Given the description of an element on the screen output the (x, y) to click on. 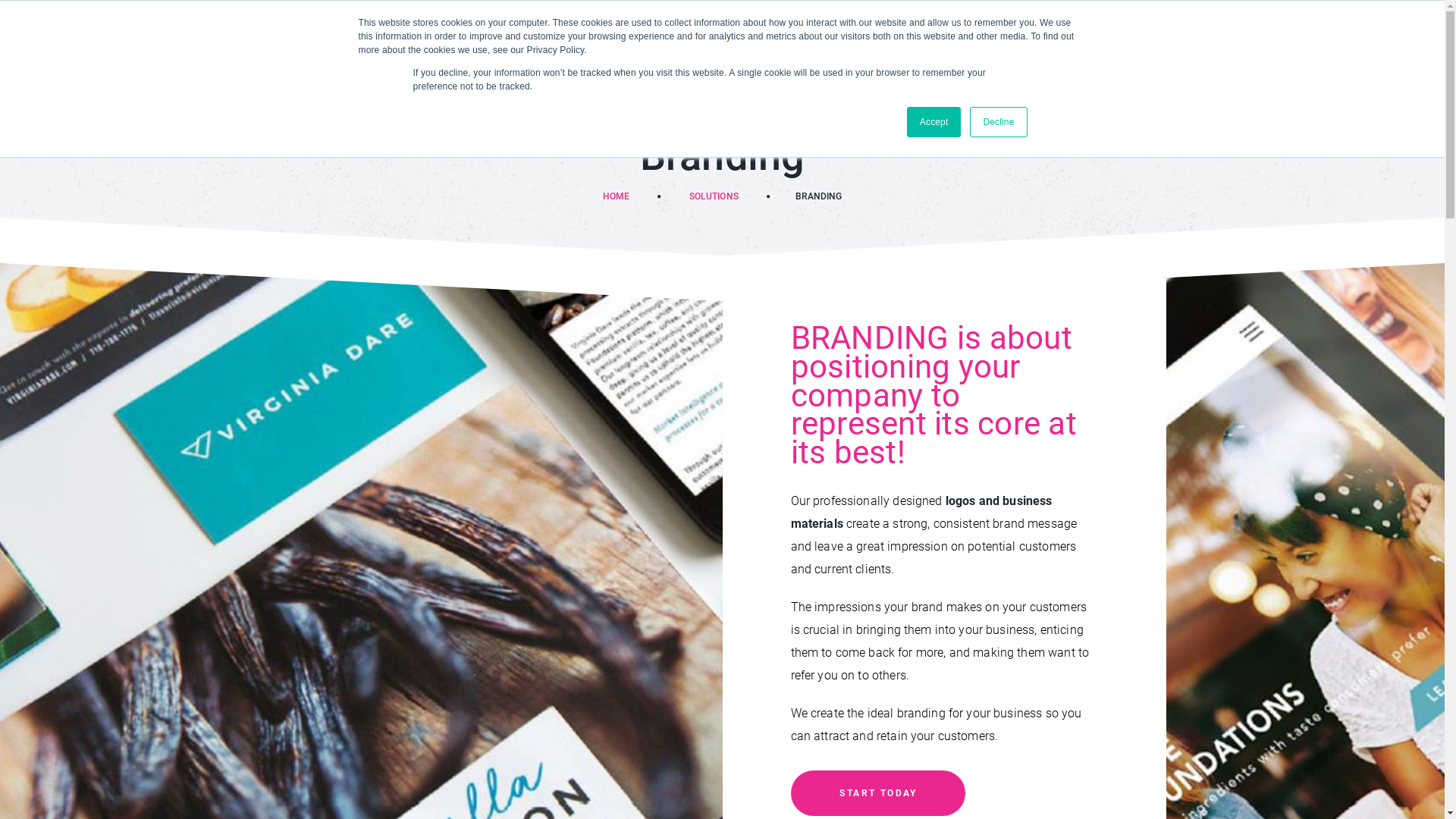
Accept Element type: text (933, 121)
CONTACT Element type: text (1003, 47)
HOME Element type: text (482, 48)
1300 73 83 89 Element type: text (1325, 19)
Decline Element type: text (997, 121)
ABOUT Element type: text (575, 48)
START TODAY Element type: text (877, 792)
TIPS Element type: text (908, 48)
SOLUTIONS Element type: text (686, 48)
SOLUTIONS Element type: text (713, 196)
PROJECTS Element type: text (806, 48)
HOME Element type: text (616, 196)
